Given the description of an element on the screen output the (x, y) to click on. 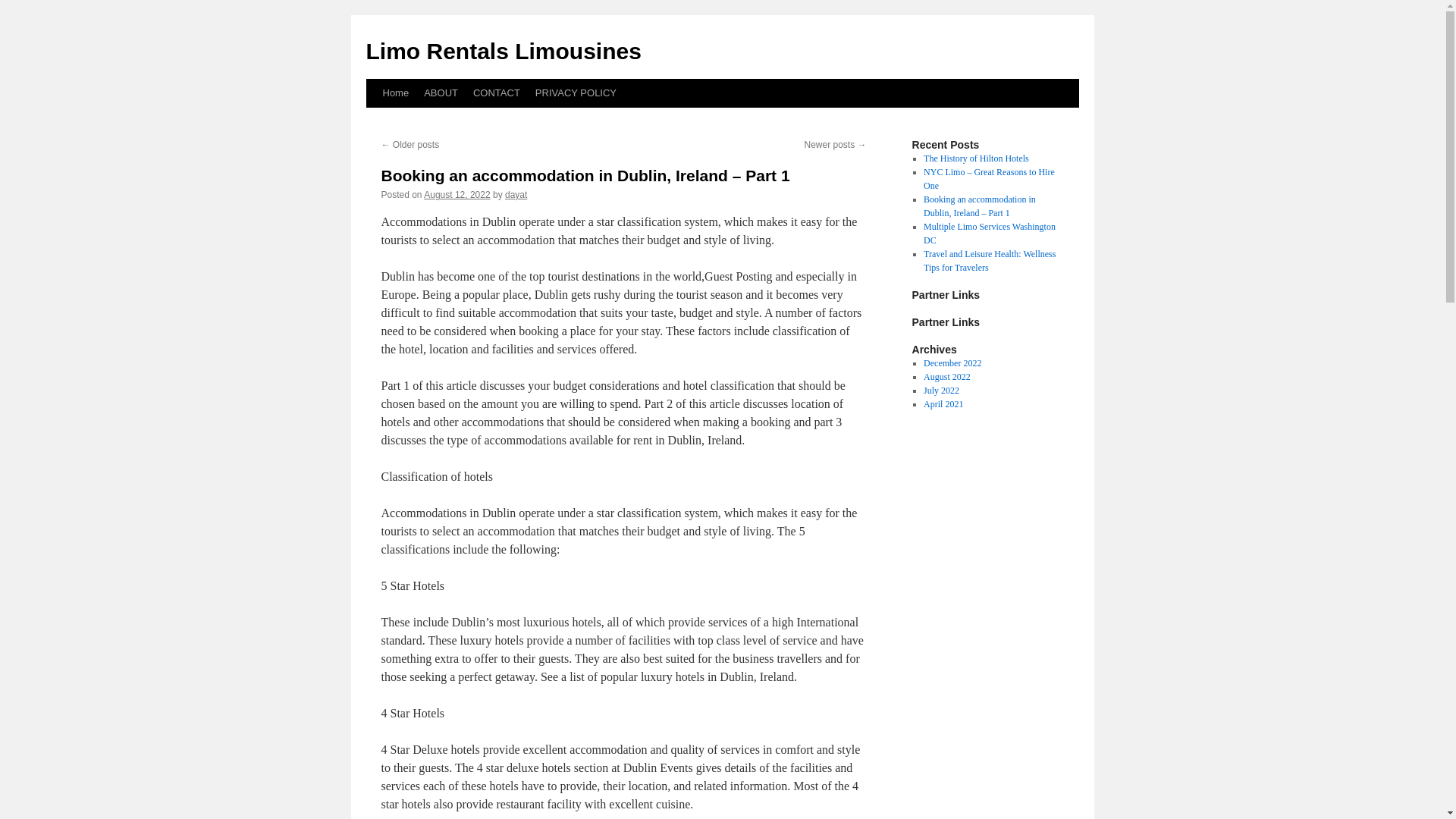
ABOUT (440, 92)
December 2022 (952, 362)
The History of Hilton Hotels (976, 158)
The History of Hilton Hotels (976, 158)
CONTACT (496, 92)
August 2022 (947, 376)
Home (395, 92)
CONTACT (496, 92)
Home (395, 92)
August 12, 2022 (456, 194)
Multiple Limo Services Washington DC (989, 233)
Limo Rentals Limousines (502, 50)
View all posts by dayat (516, 194)
July 2022 (941, 389)
Limo Rentals Limousines (502, 50)
